Given the description of an element on the screen output the (x, y) to click on. 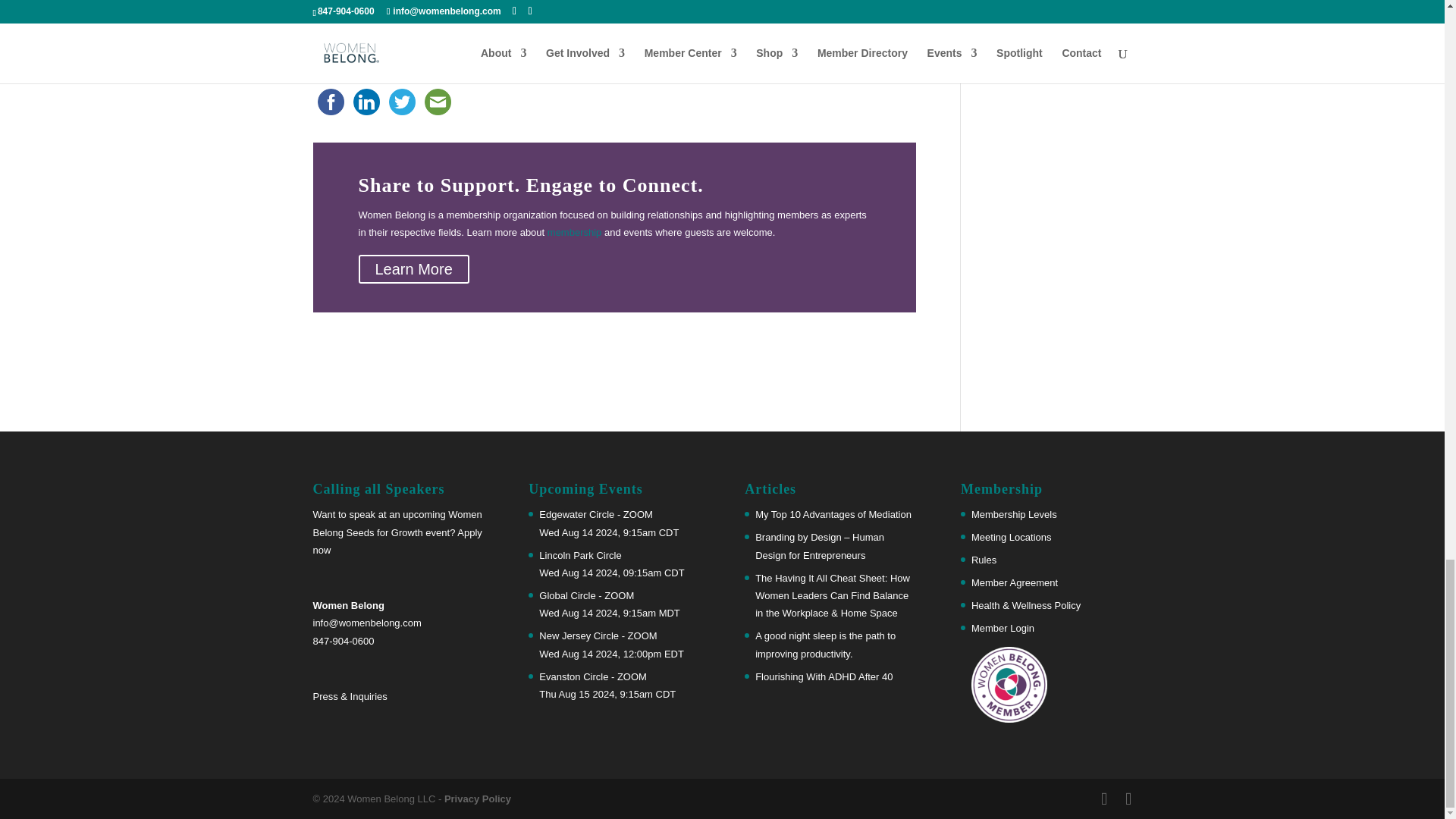
email (437, 101)
facebook (330, 101)
Creative Journeys (725, 30)
twitter (401, 101)
www.victoriahines.com (362, 47)
linkedin (366, 101)
